Given the description of an element on the screen output the (x, y) to click on. 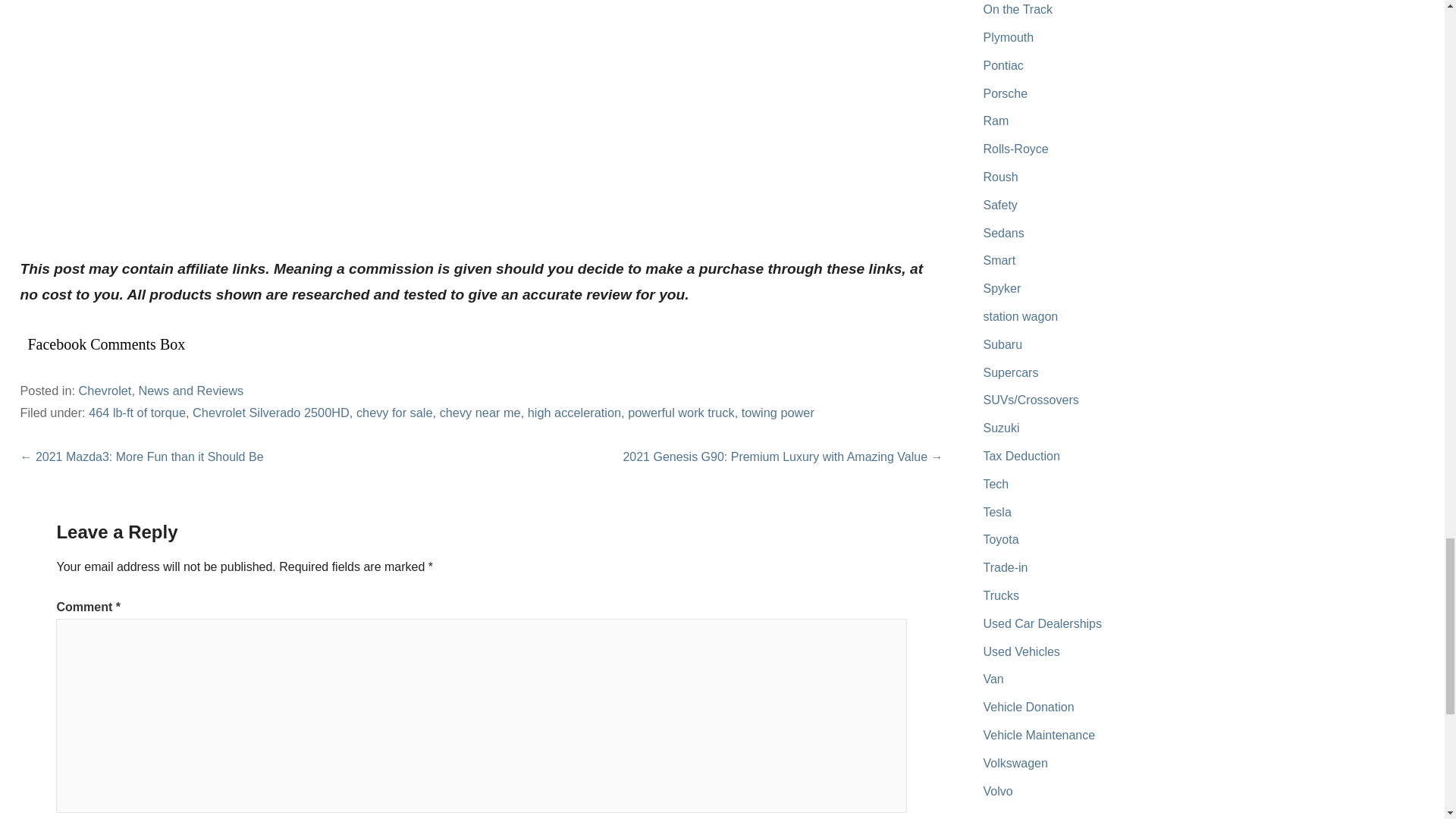
Chevrolet Silverado 2500HD (270, 412)
Chevrolet (105, 390)
towing power (777, 412)
powerful work truck (681, 412)
high acceleration (574, 412)
464 lb-ft of torque (137, 412)
2021 Chevy Silverado 2500HD High Country - Duramax Diesel (280, 112)
News and Reviews (190, 390)
chevy for sale (394, 412)
chevy near me (480, 412)
